Given the description of an element on the screen output the (x, y) to click on. 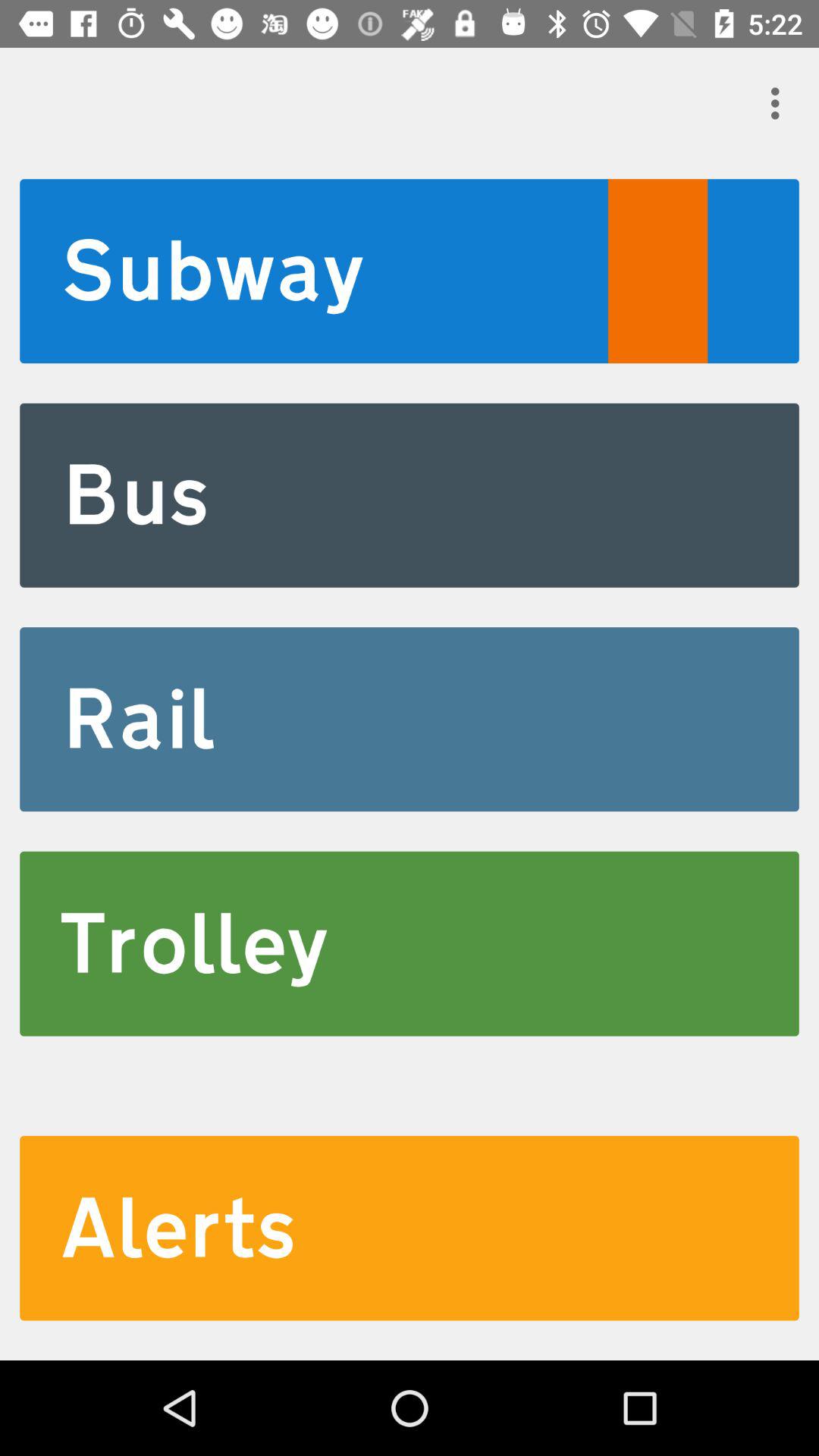
launch item below the bus item (409, 719)
